Given the description of an element on the screen output the (x, y) to click on. 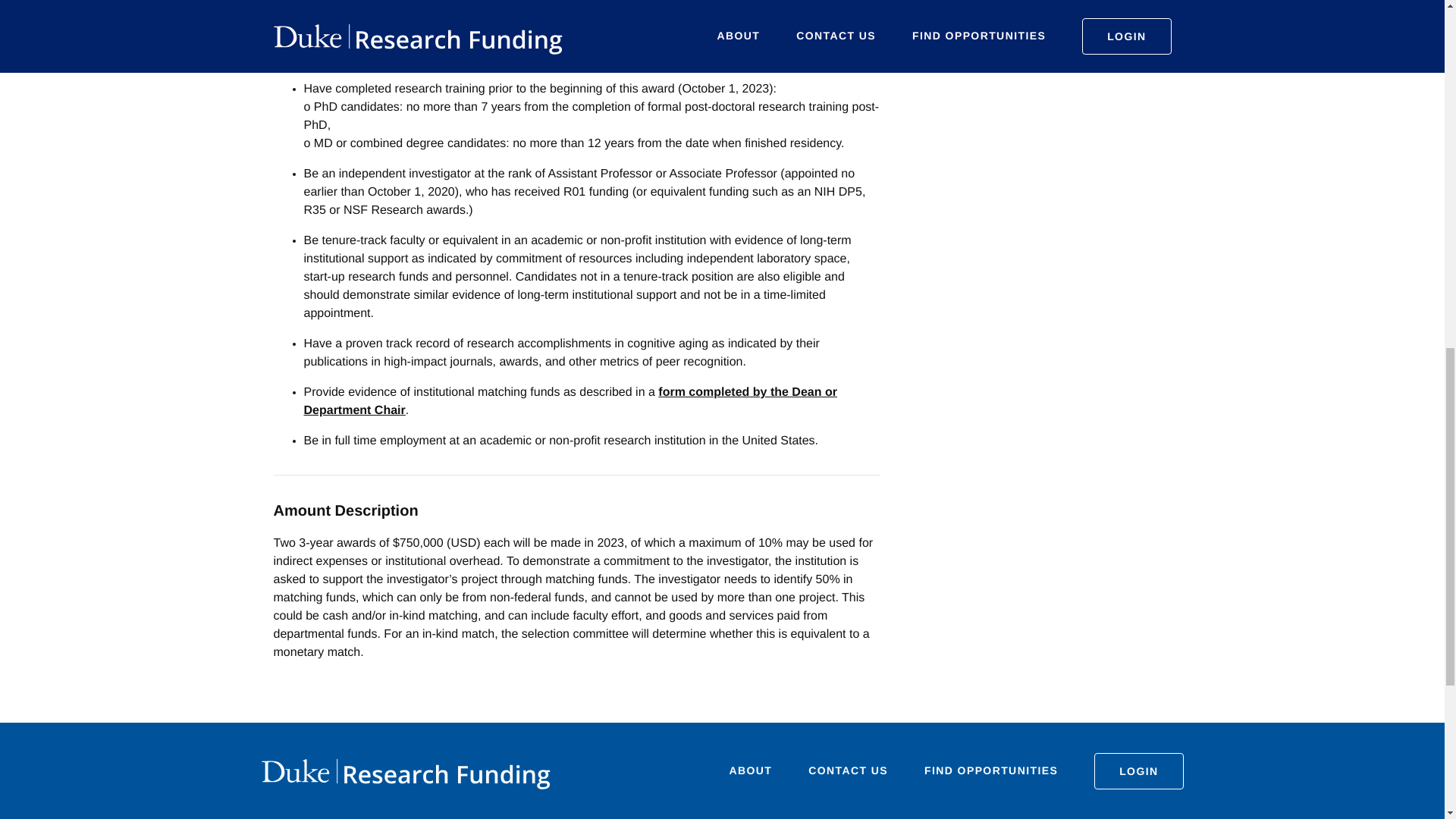
ABOUT (751, 771)
CONTACT US (848, 771)
form completed by the Dean or Department Chair (568, 400)
FIND OPPORTUNITIES (991, 771)
LOGIN (1138, 770)
